Given the description of an element on the screen output the (x, y) to click on. 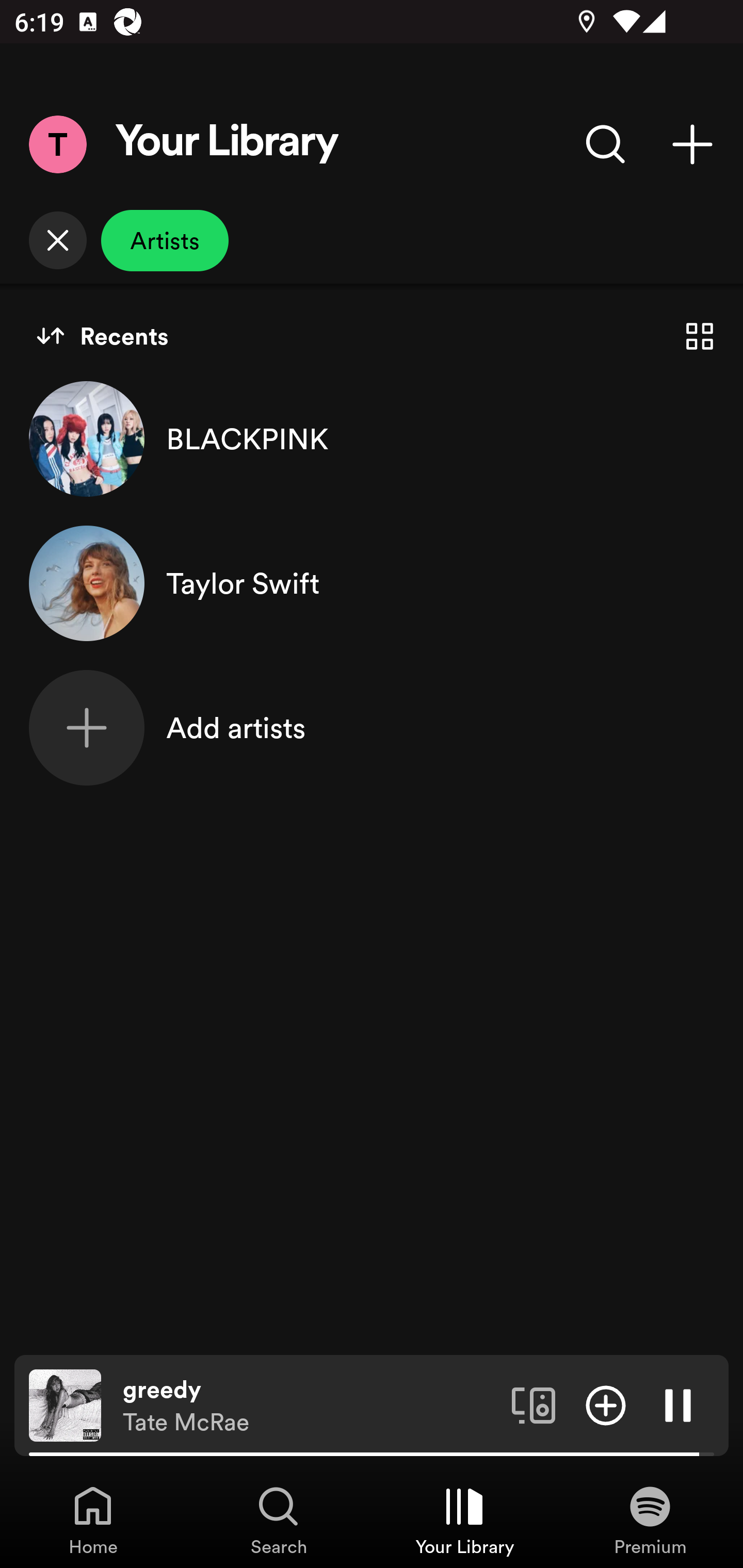
Menu (57, 144)
Search Your Library (605, 144)
Create playlist (692, 144)
Your Library Your Library Heading (226, 144)
Clear Filters (57, 240)
Artists, show only artists. (164, 240)
Recents (101, 336)
Show Grid view (699, 336)
BLACKPINK,  BLACKPINK (371, 439)
Taylor Swift,  Taylor Swift (371, 583)
Add artists,  Add artists (371, 727)
greedy Tate McRae (309, 1405)
The cover art of the currently playing track (64, 1404)
Connect to a device. Opens the devices menu (533, 1404)
Add item (605, 1404)
Pause (677, 1404)
Home, Tab 1 of 4 Home Home (92, 1519)
Search, Tab 2 of 4 Search Search (278, 1519)
Your Library, Tab 3 of 4 Your Library Your Library (464, 1519)
Premium, Tab 4 of 4 Premium Premium (650, 1519)
